Given the description of an element on the screen output the (x, y) to click on. 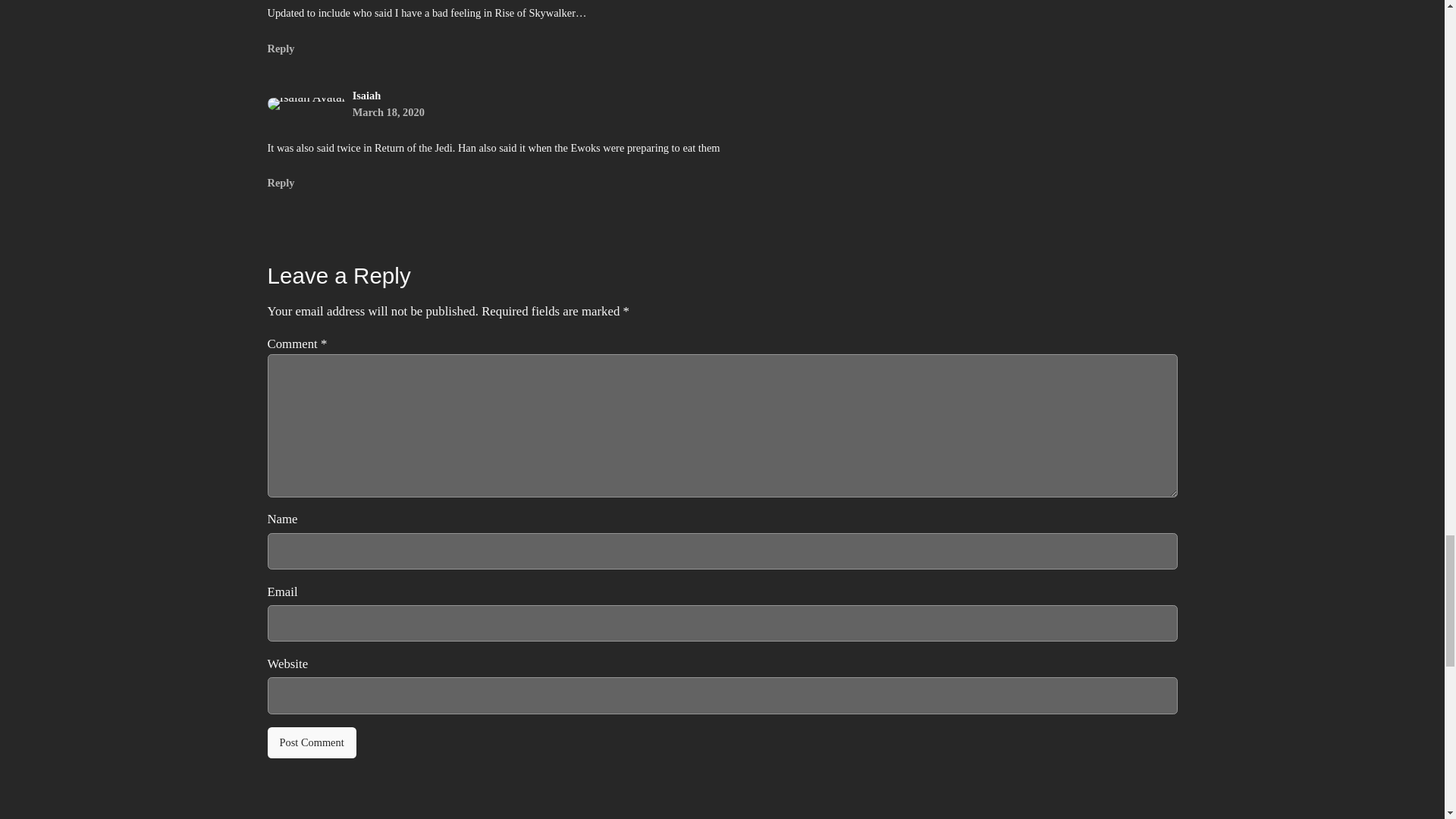
Post Comment (310, 743)
